Given the description of an element on the screen output the (x, y) to click on. 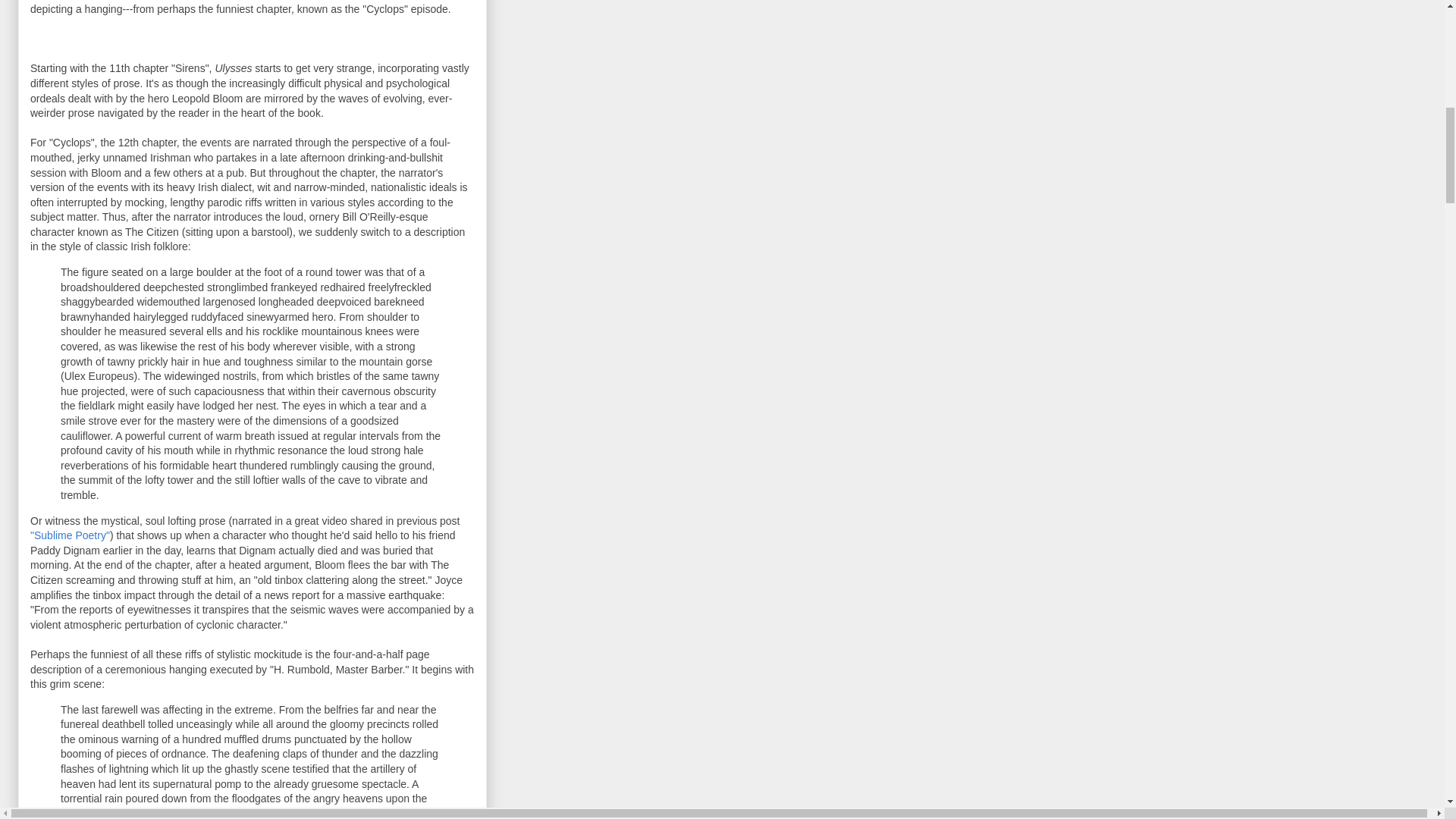
"Sublime Poetry" (70, 535)
